Given the description of an element on the screen output the (x, y) to click on. 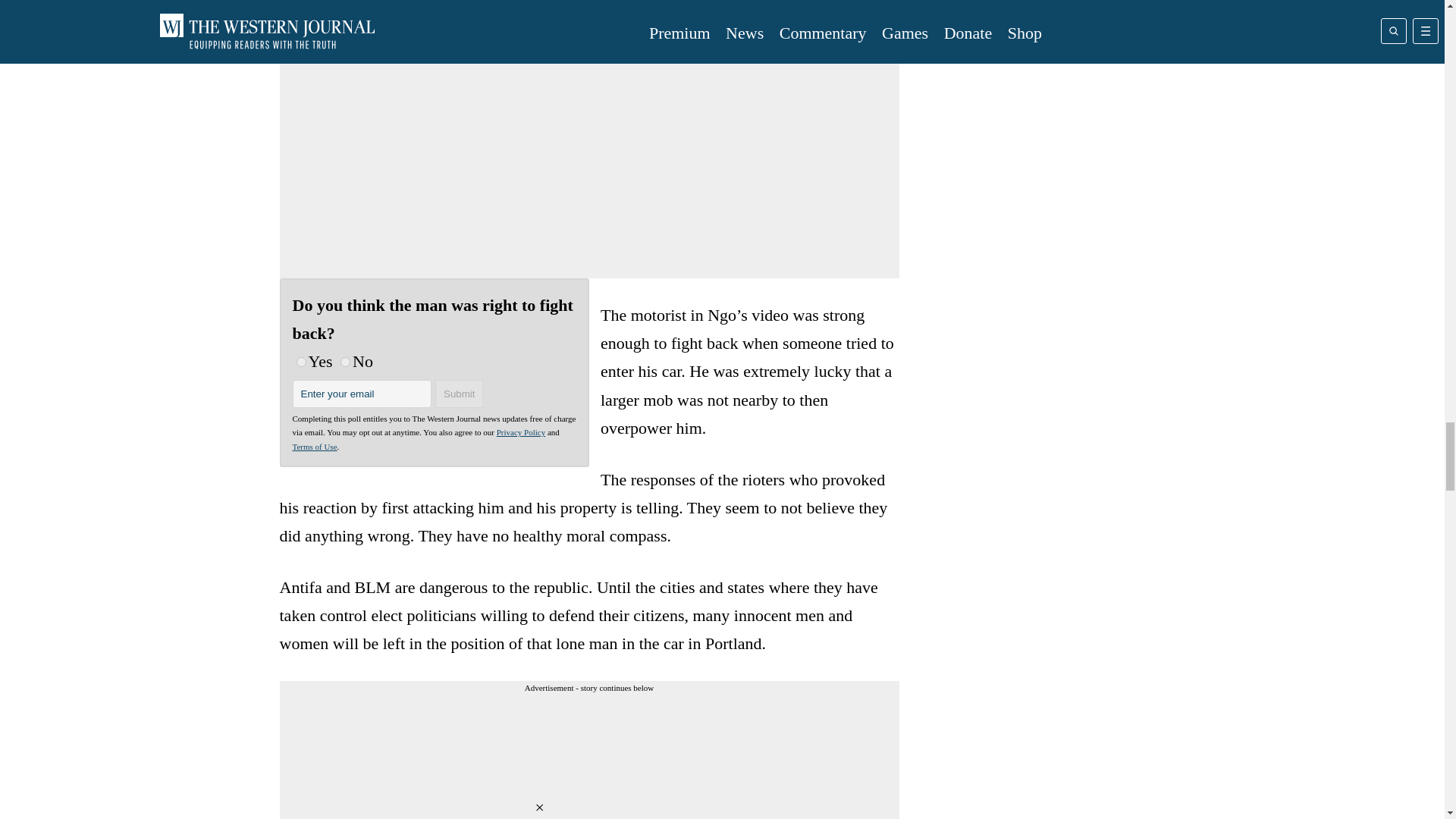
yes (300, 361)
Submit (459, 393)
no (345, 361)
